Given the description of an element on the screen output the (x, y) to click on. 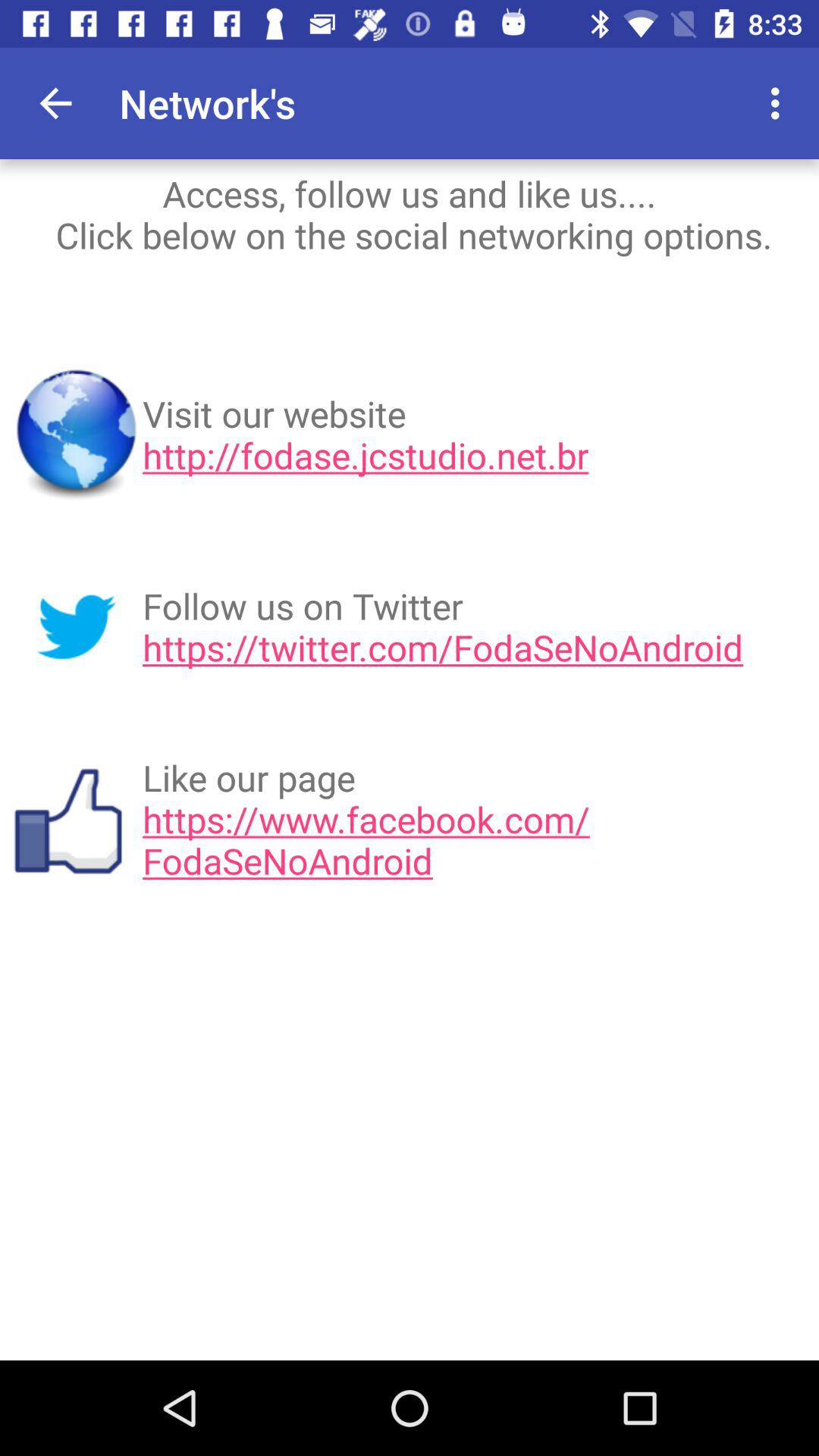
open icon to the left of network's (55, 103)
